Given the description of an element on the screen output the (x, y) to click on. 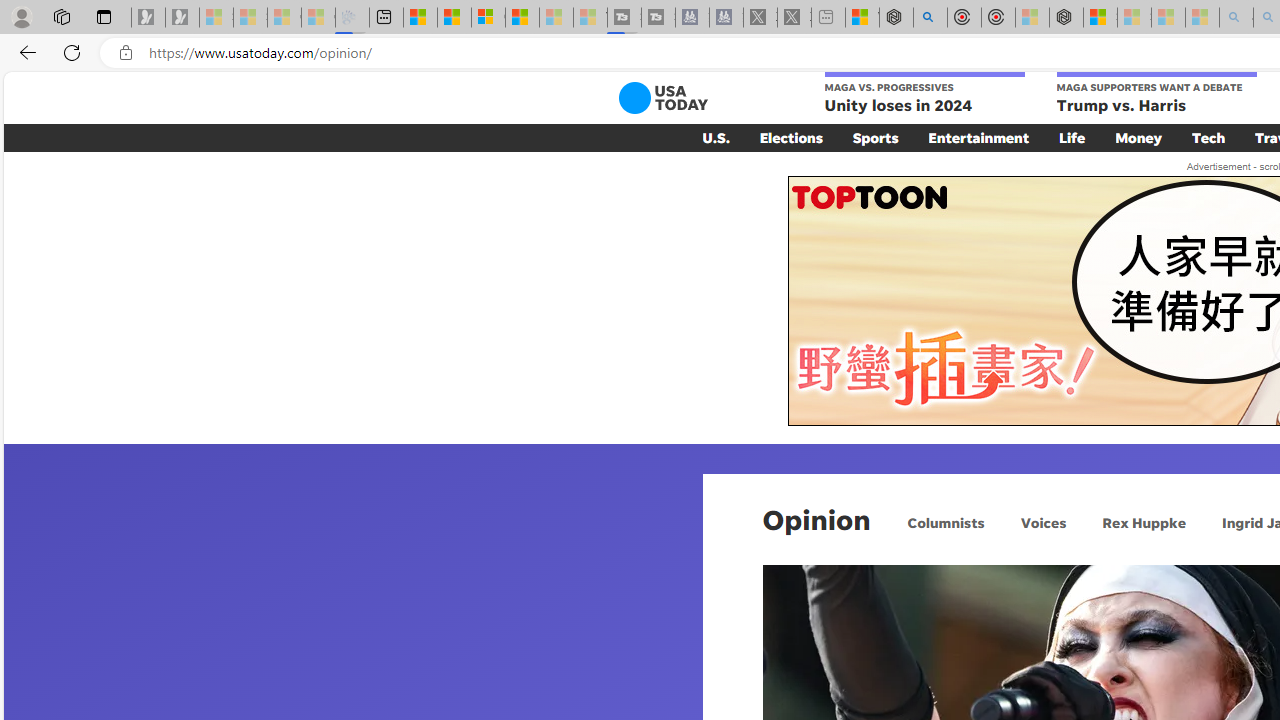
Elections (790, 137)
MAGA VS. PROGRESSIVES Unity loses in 2024 (924, 94)
Microsoft Start - Sleeping (556, 17)
Nordace - Summer Adventures 2024 (895, 17)
Tech (1208, 137)
USA TODAY (662, 97)
Rex Huppke (1143, 521)
Overview (488, 17)
Nordace - Nordace Siena Is Not An Ordinary Backpack (1065, 17)
